Given the description of an element on the screen output the (x, y) to click on. 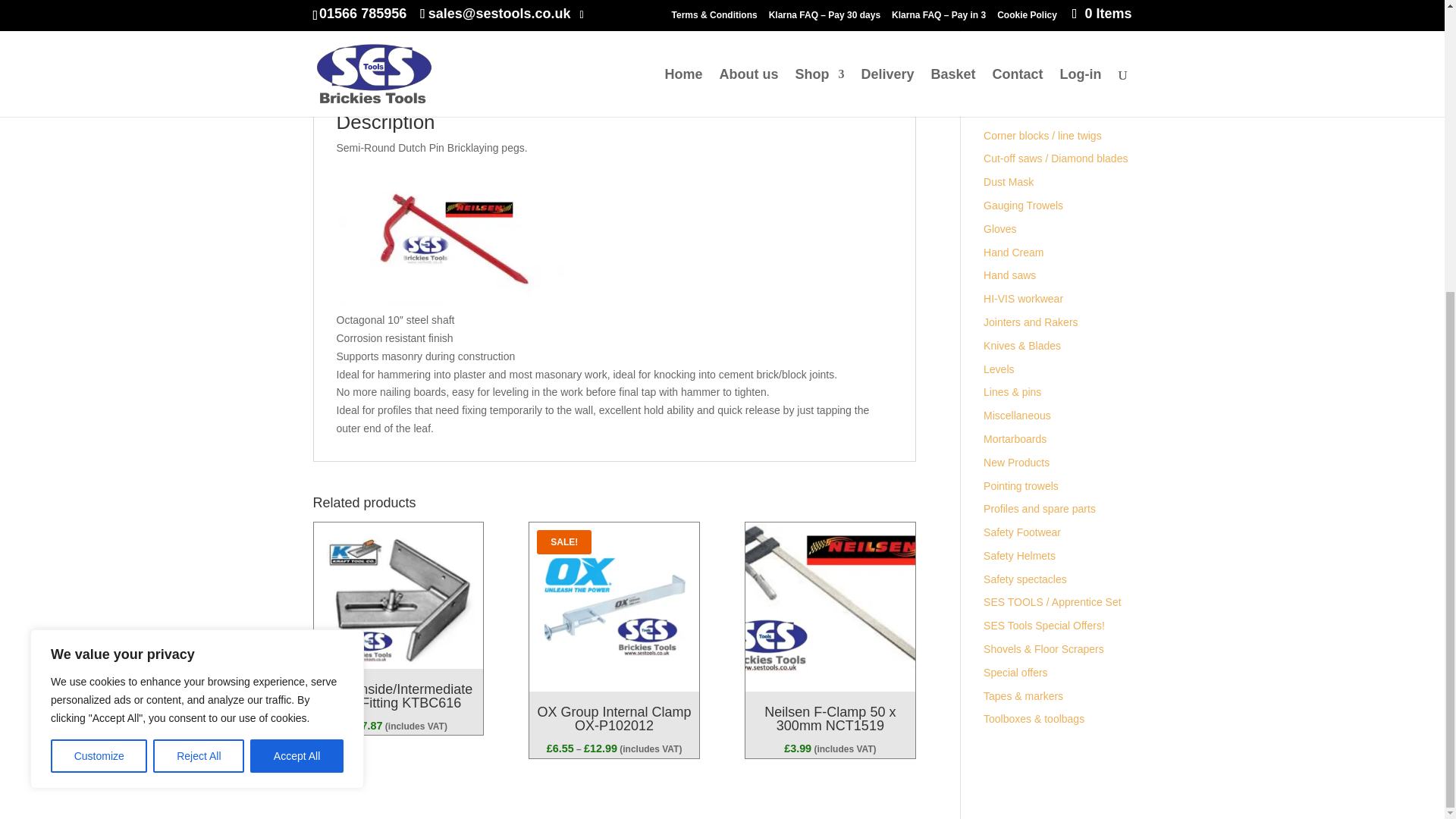
Customize (98, 309)
Reject All (198, 309)
Accept All (296, 309)
